Given the description of an element on the screen output the (x, y) to click on. 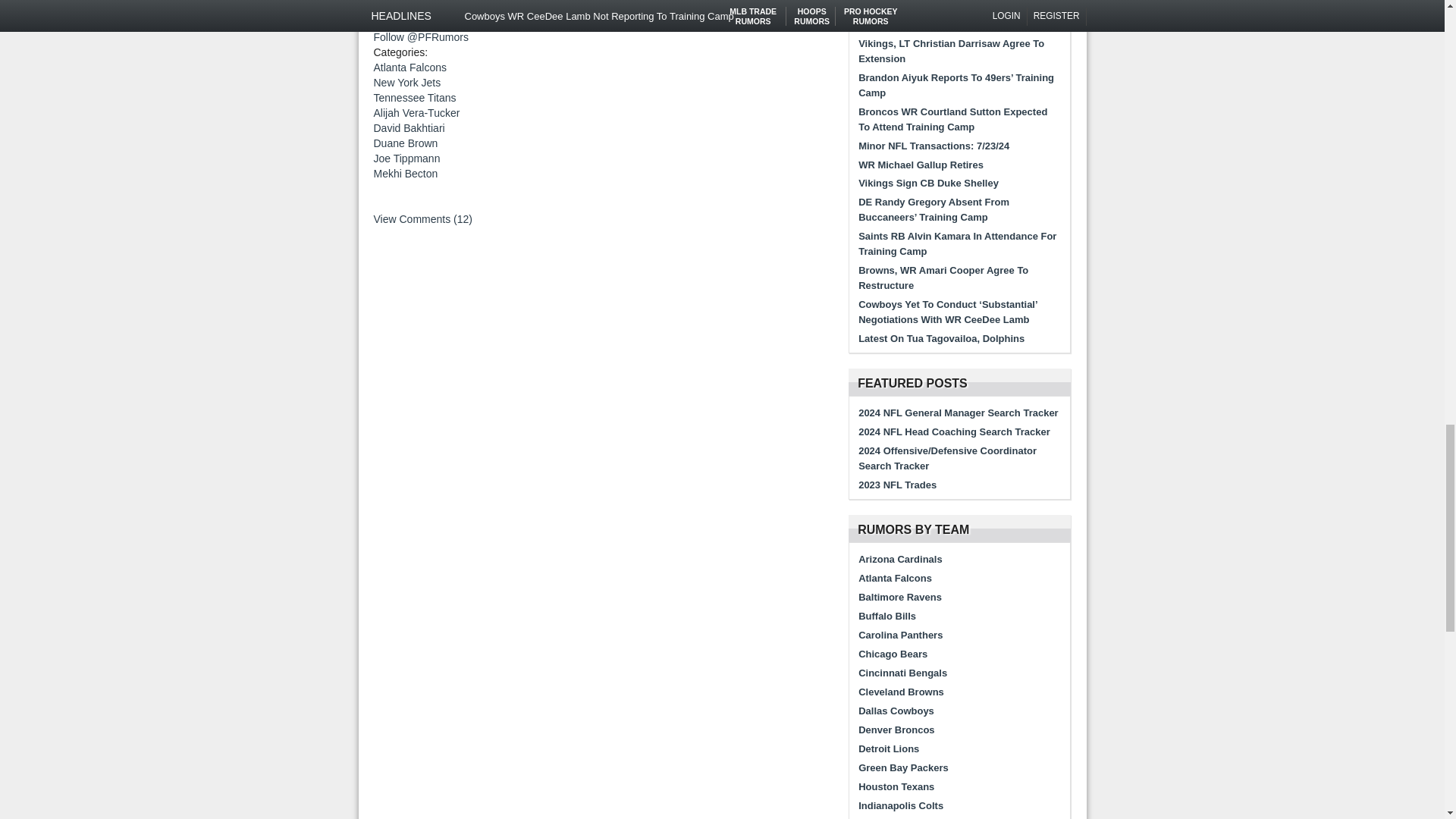
View all posts in Tennessee Titans (413, 97)
View all posts in Atlanta Falcons (409, 67)
View all posts in Mekhi Becton (405, 173)
View all posts in Duane Brown (405, 143)
View all posts in David Bakhtiari (408, 128)
View all posts in Alijah Vera-Tucker (416, 112)
View all posts in Joe Tippmann (405, 158)
View all posts in New York Jets (406, 82)
